Given the description of an element on the screen output the (x, y) to click on. 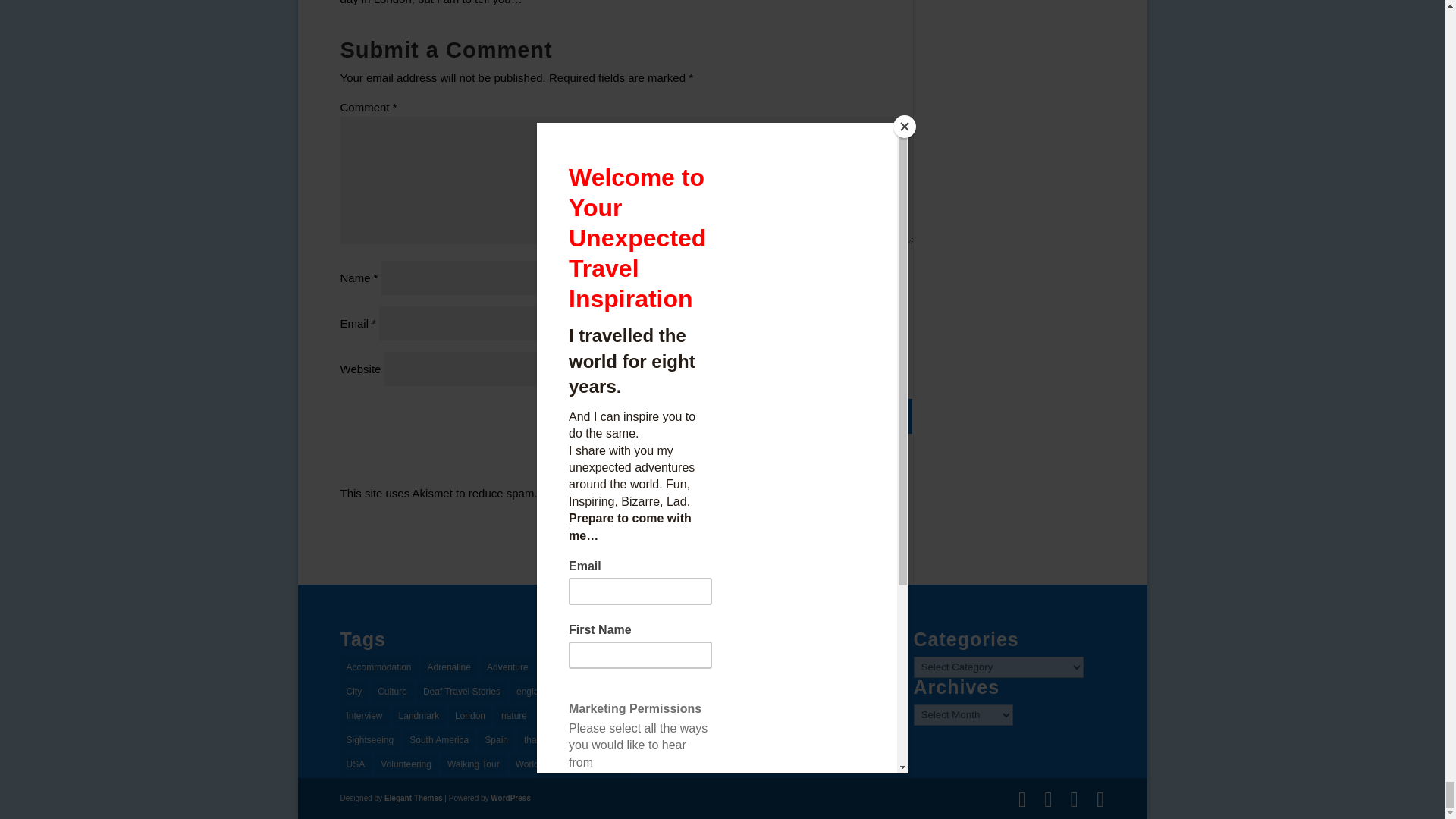
Submit Comment (838, 415)
